Given the description of an element on the screen output the (x, y) to click on. 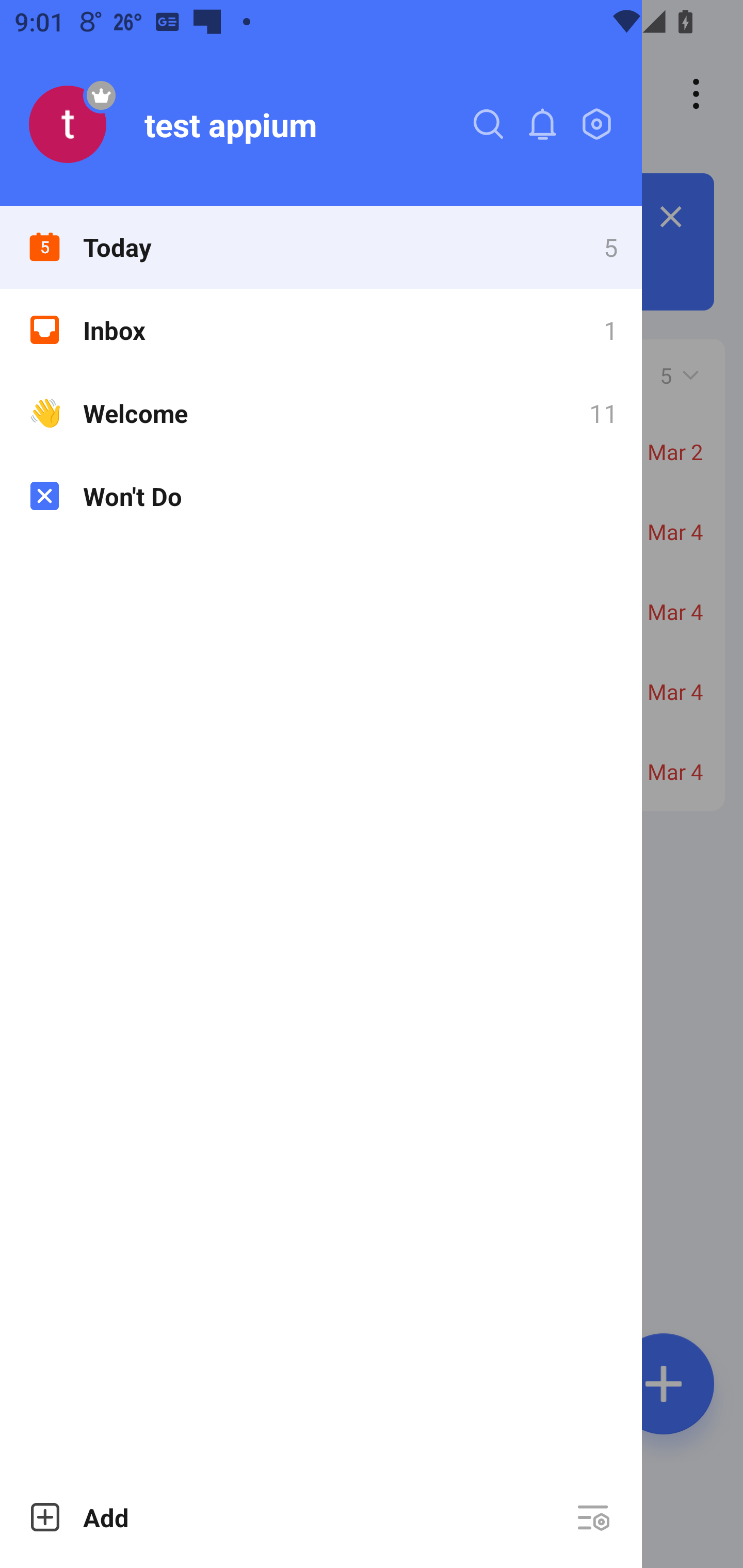
test appium (320, 102)
test appium (230, 123)
Today 5 (320, 246)
Inbox 1 (320, 329)
👋 Welcome 11 (320, 412)
Won't Do (320, 495)
Add (78, 1517)
